Given the description of an element on the screen output the (x, y) to click on. 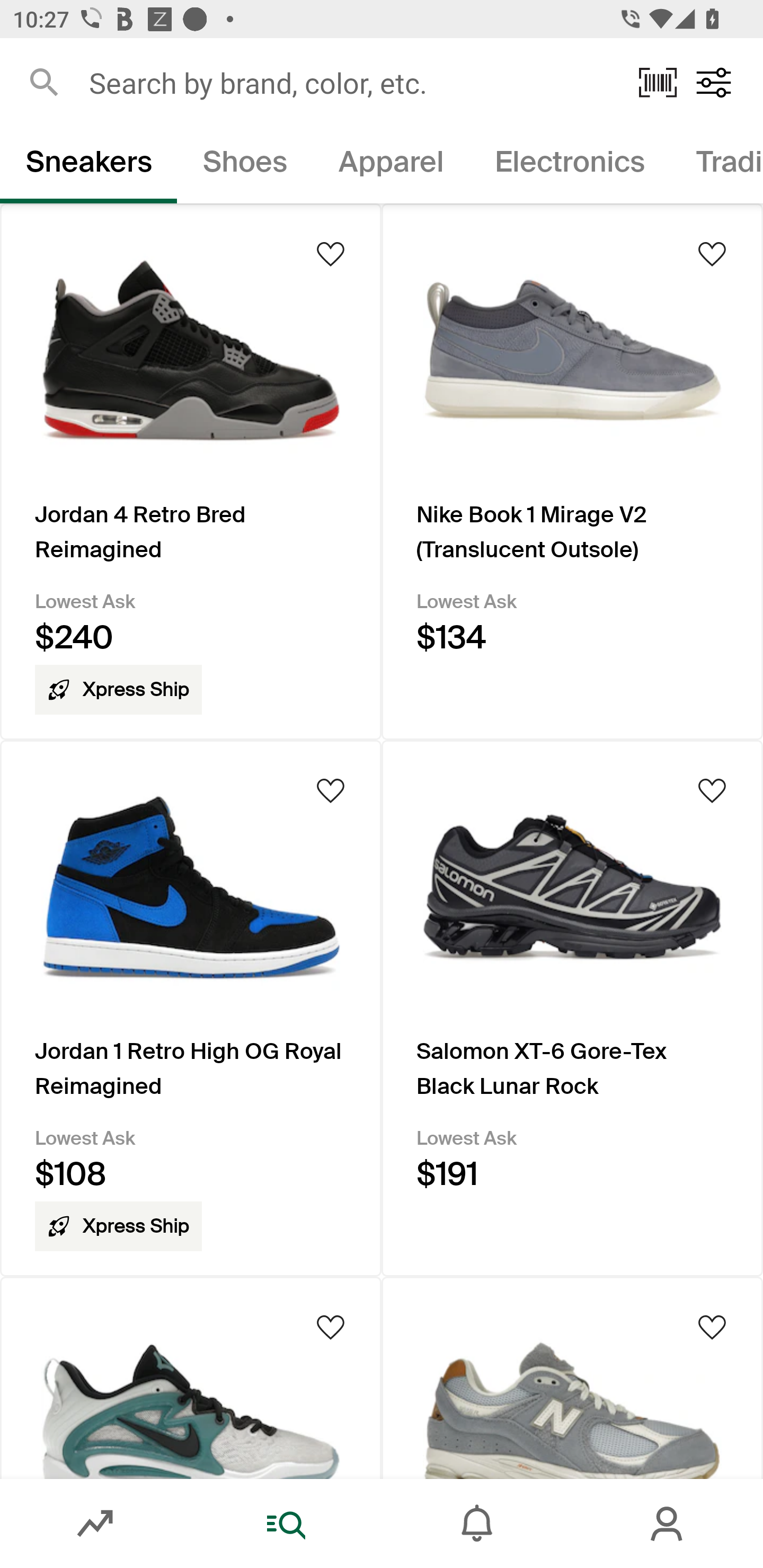
Search by brand, color, etc. (351, 82)
Shoes (244, 165)
Apparel (390, 165)
Electronics (569, 165)
Product Image (190, 1377)
Product Image (572, 1377)
Market (95, 1523)
Inbox (476, 1523)
Account (667, 1523)
